Given the description of an element on the screen output the (x, y) to click on. 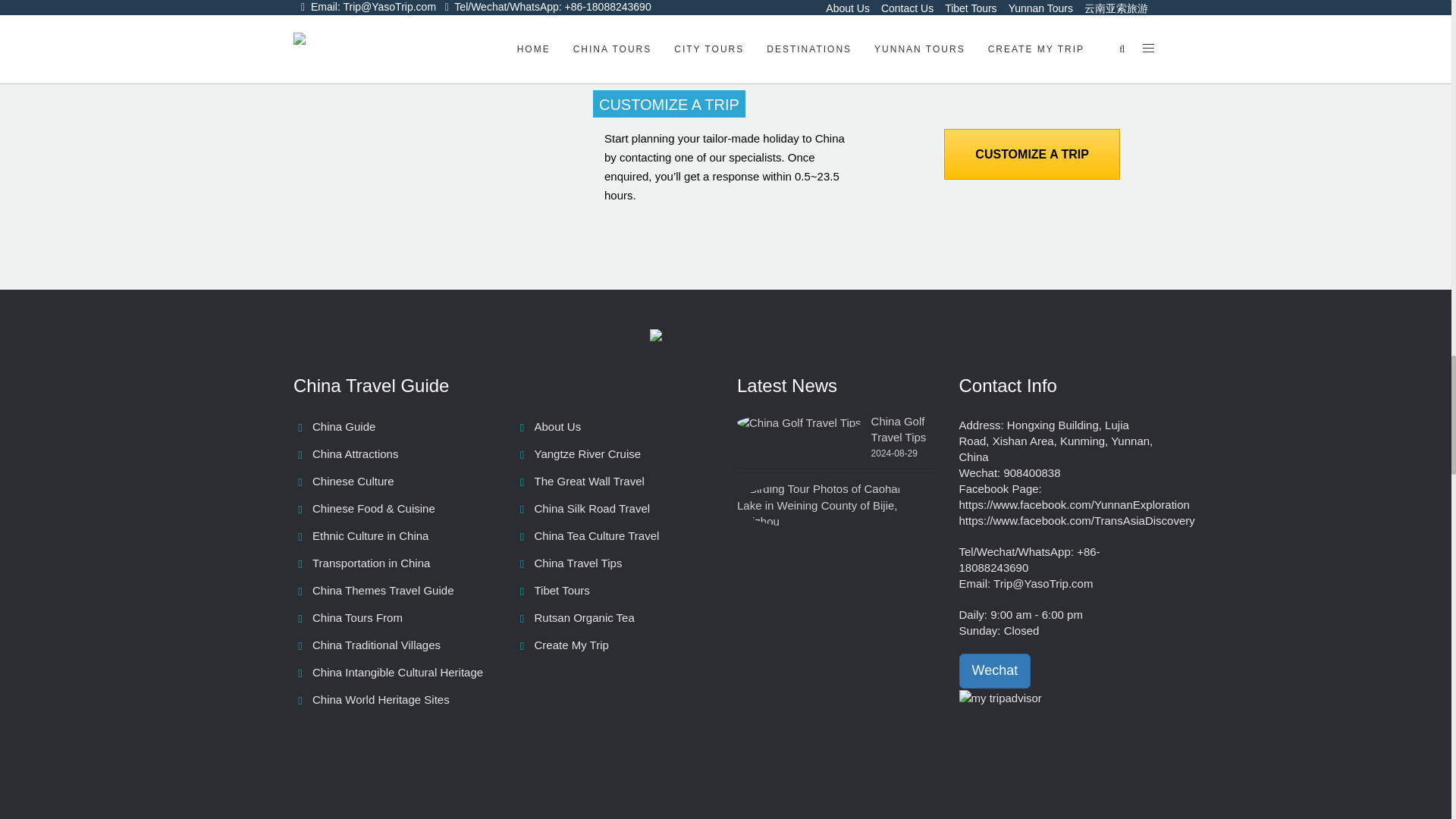
Cindy Cao (884, 33)
David Yao (634, 33)
Hellen He (801, 33)
Lydia Li (718, 33)
